Given the description of an element on the screen output the (x, y) to click on. 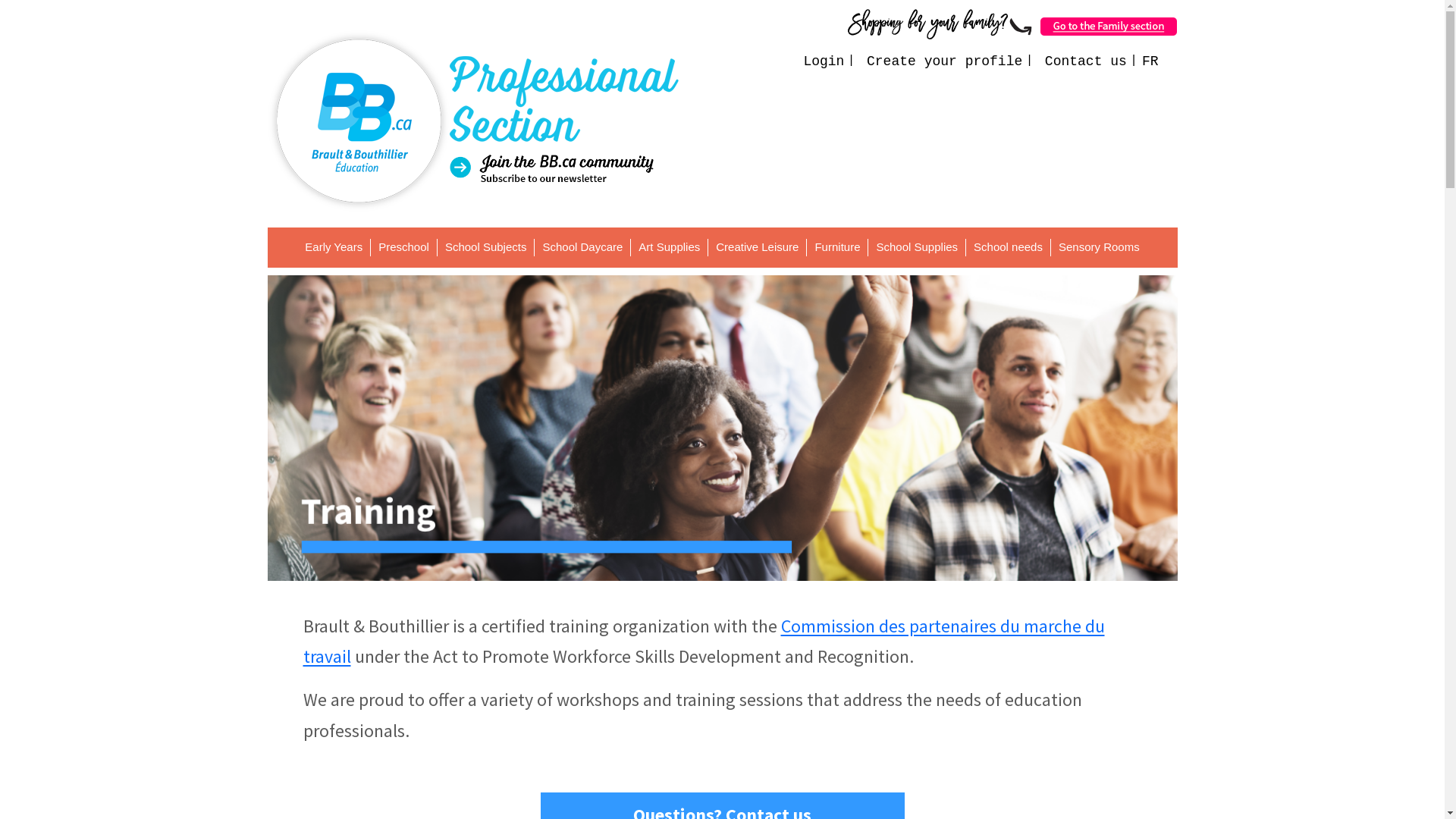
Creative Leisure Element type: text (760, 247)
Sensory Rooms Element type: text (1098, 247)
Preschool Element type: text (407, 247)
Art Supplies Element type: text (673, 247)
Create your profile Element type: text (936, 61)
Early Years Element type: text (337, 247)
School Daycare Element type: text (586, 247)
Commission des partenaires du marche du travail Element type: text (703, 641)
Contact us Element type: text (1077, 61)
School needs Element type: text (1012, 247)
Furniture Element type: text (841, 247)
FR Element type: text (1142, 61)
School Supplies Element type: text (920, 247)
Login Element type: text (815, 61)
School Subjects Element type: text (490, 247)
